Given the description of an element on the screen output the (x, y) to click on. 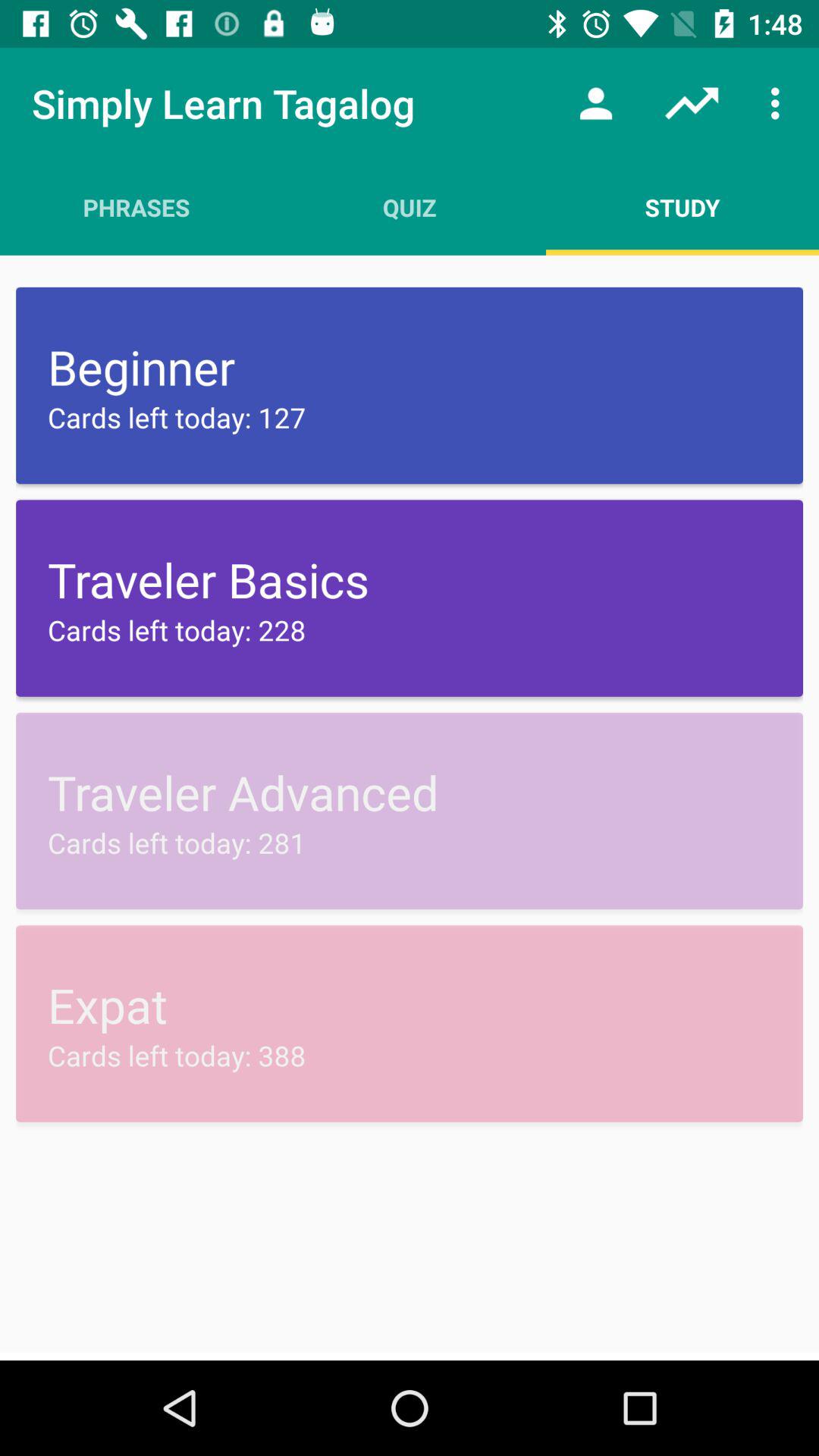
turn on the item to the right of the phrases item (409, 207)
